Given the description of an element on the screen output the (x, y) to click on. 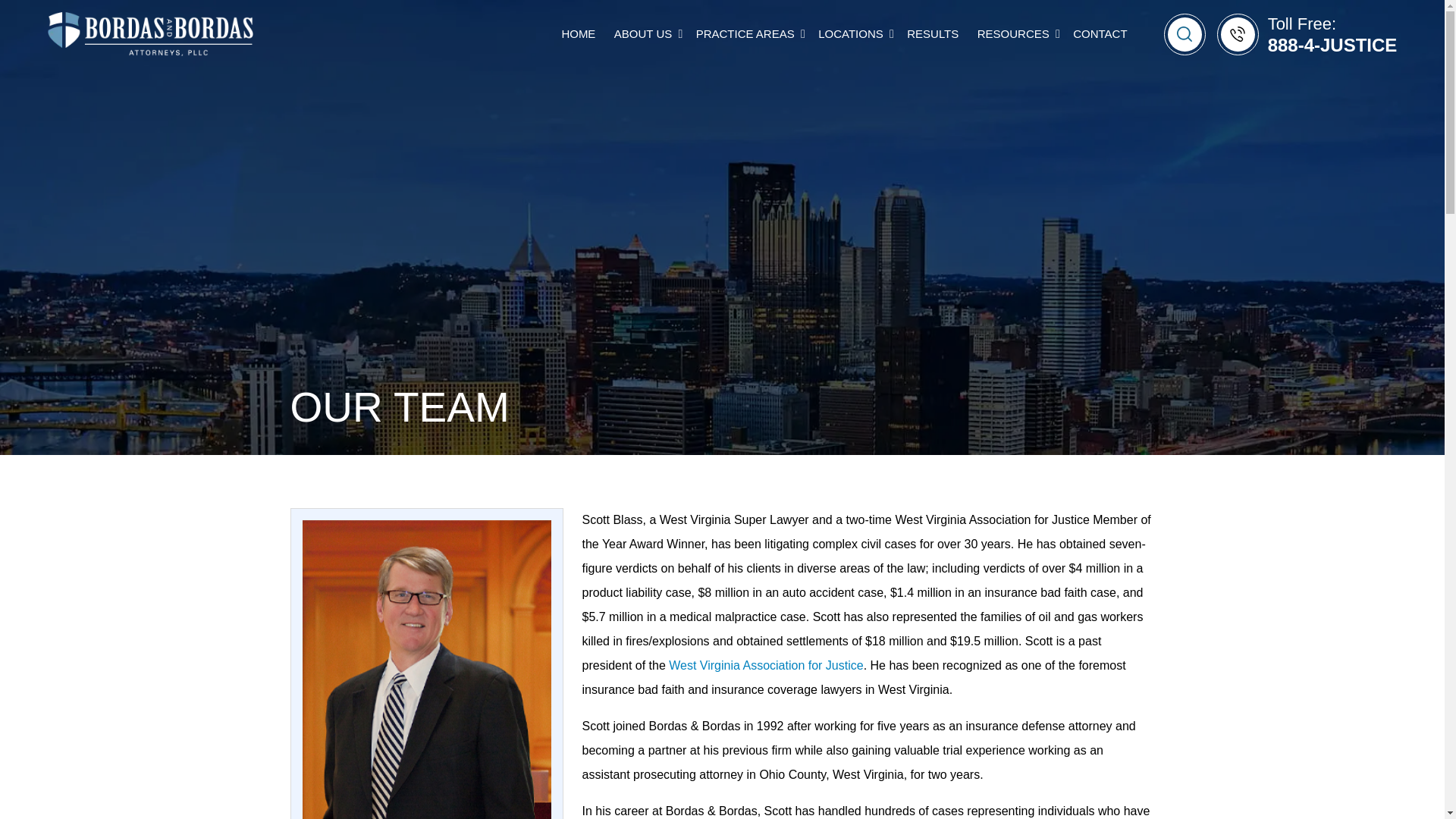
RESOURCES (1012, 34)
ABOUT US (642, 34)
PRACTICE AREAS (744, 34)
PRACTICE AREAS (748, 33)
RESULTS (932, 34)
LOCATIONS (850, 34)
HOME (577, 34)
